Given the description of an element on the screen output the (x, y) to click on. 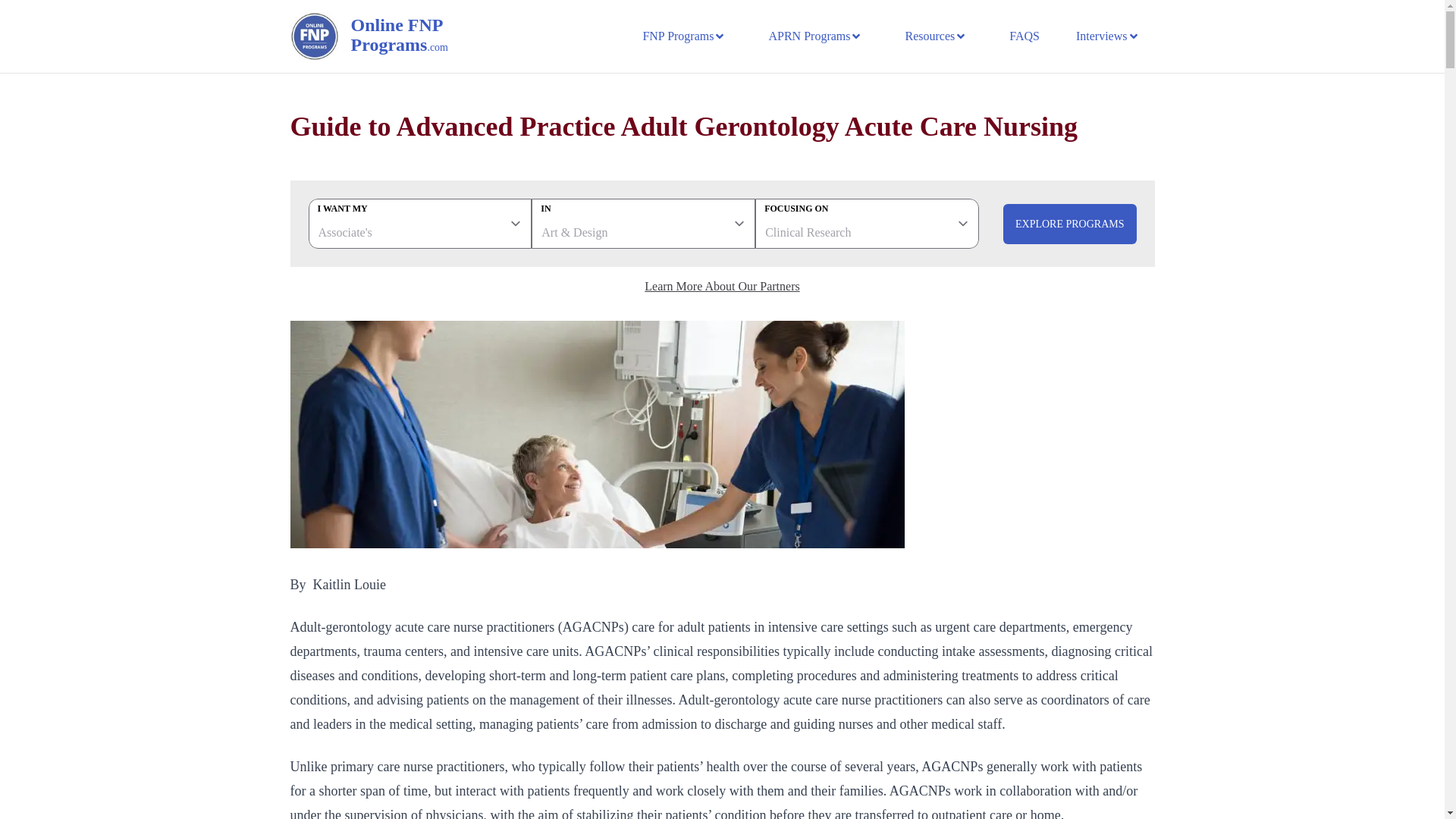
Resources (935, 36)
FNP Programs (684, 36)
FAQS (1024, 36)
APRN Programs (814, 36)
Online FNP Programs.com (418, 35)
